Given the description of an element on the screen output the (x, y) to click on. 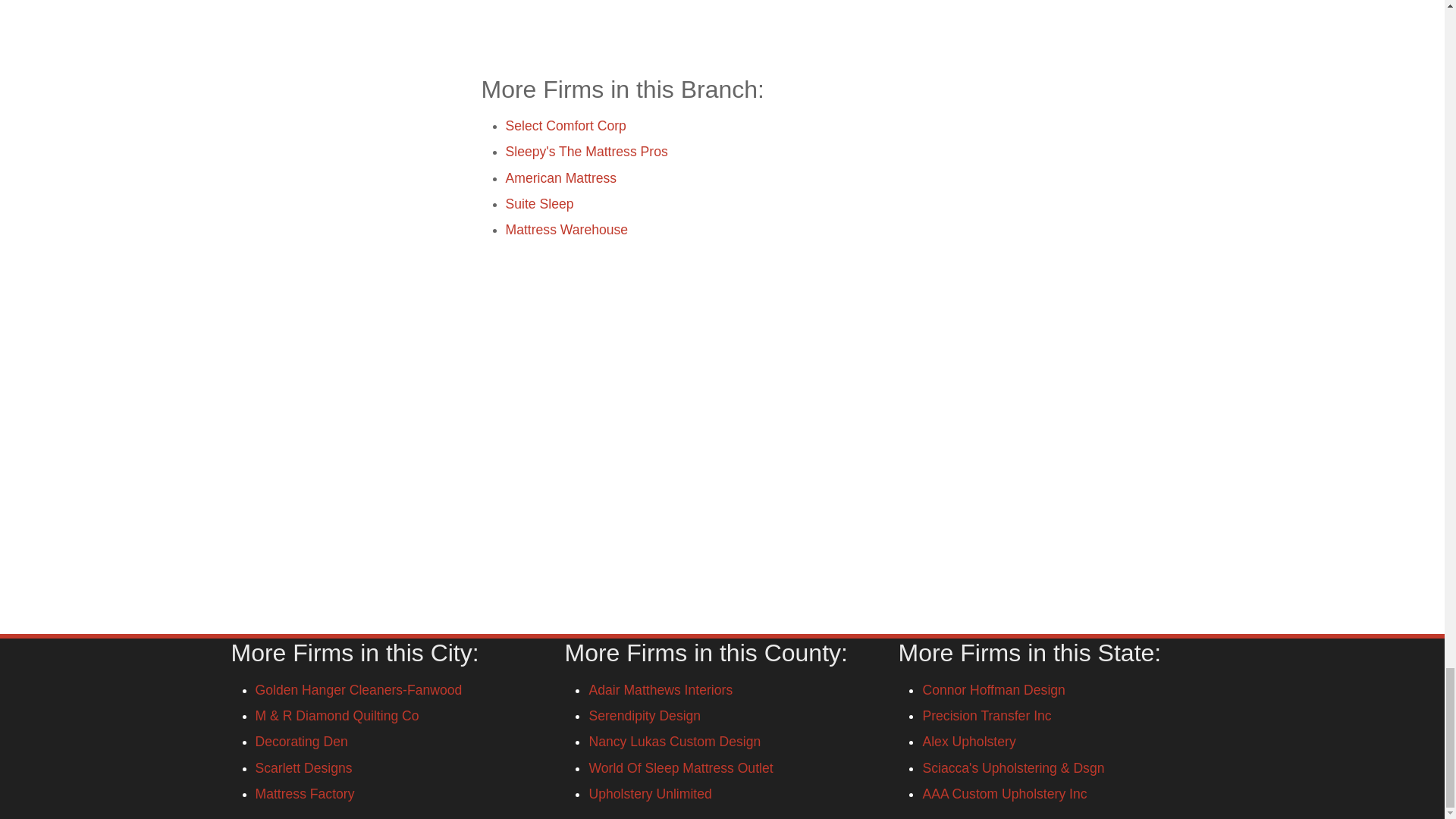
Mattress Warehouse (566, 229)
Sleepy's The Mattress Pros (585, 151)
Suite Sleep (539, 203)
American Mattress (560, 177)
Select Comfort Corp (565, 125)
